Given the description of an element on the screen output the (x, y) to click on. 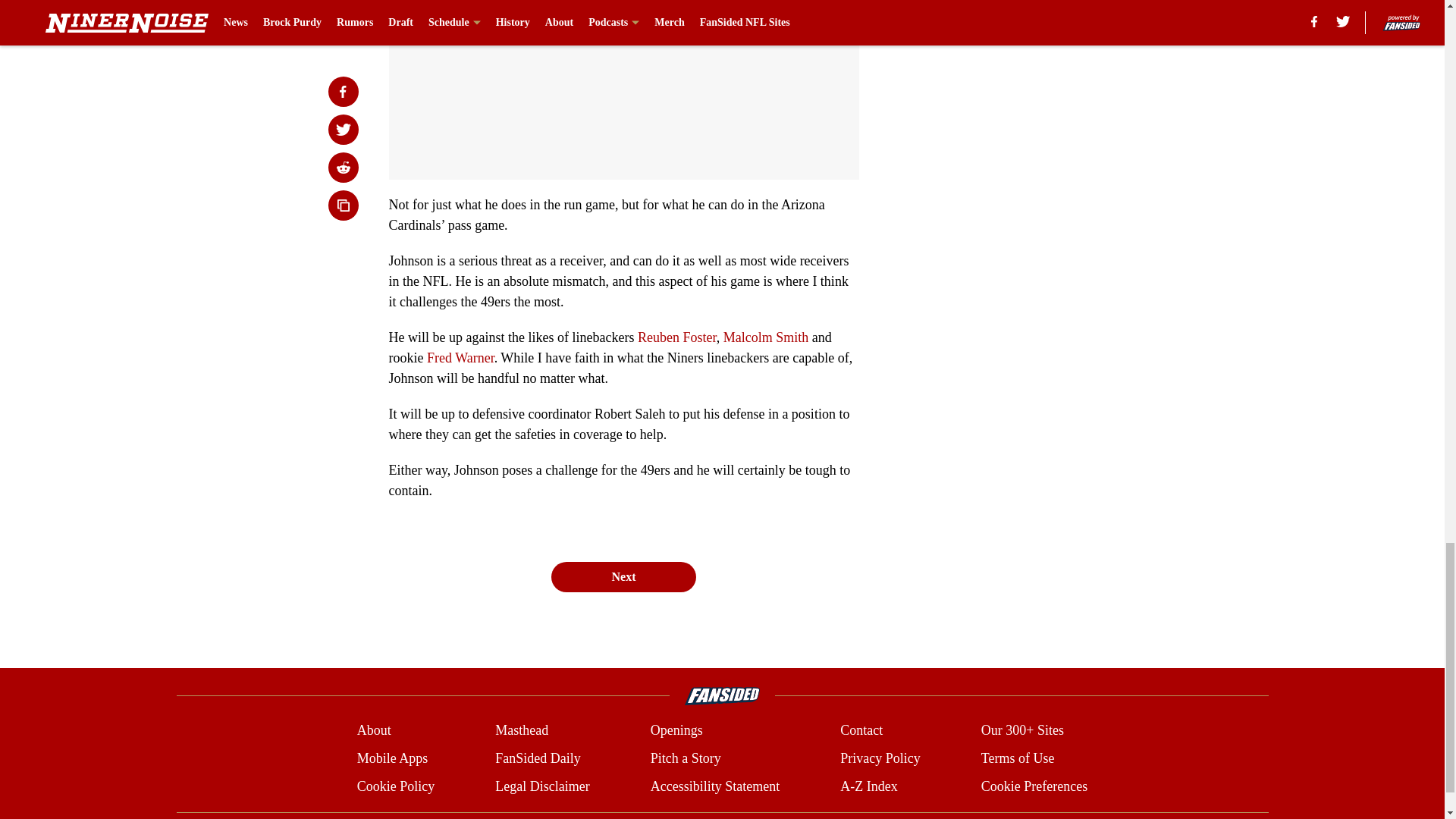
Fred Warner (460, 357)
Malcolm Smith (766, 337)
Mobile Apps (392, 758)
Next (622, 576)
Contact (861, 730)
FanSided Daily (537, 758)
Openings (676, 730)
Masthead (521, 730)
About (373, 730)
Reuben Foster (676, 337)
Pitch a Story (685, 758)
